Given the description of an element on the screen output the (x, y) to click on. 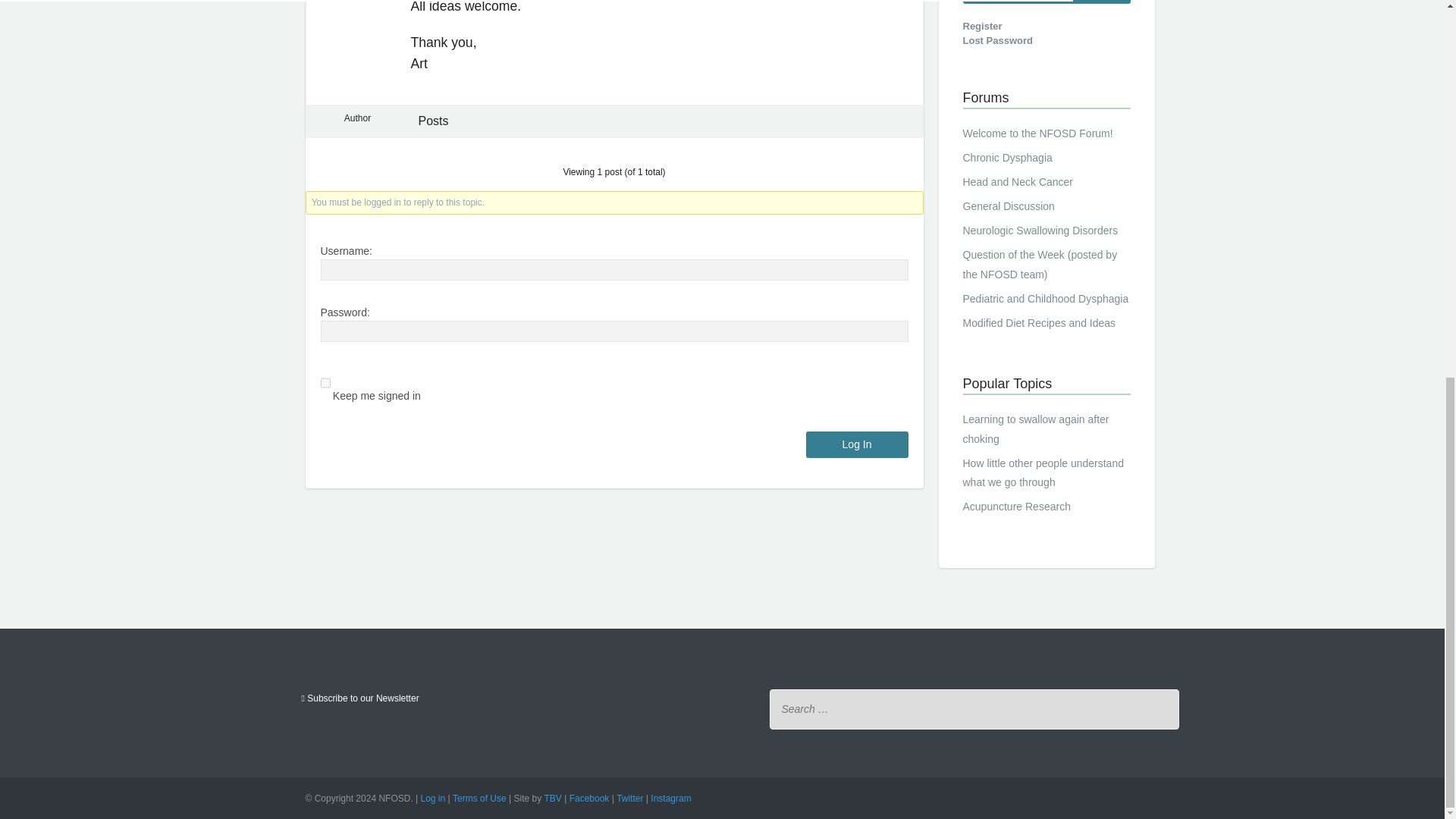
Register (982, 26)
Lost Password (997, 40)
Subscribe (360, 697)
